Given the description of an element on the screen output the (x, y) to click on. 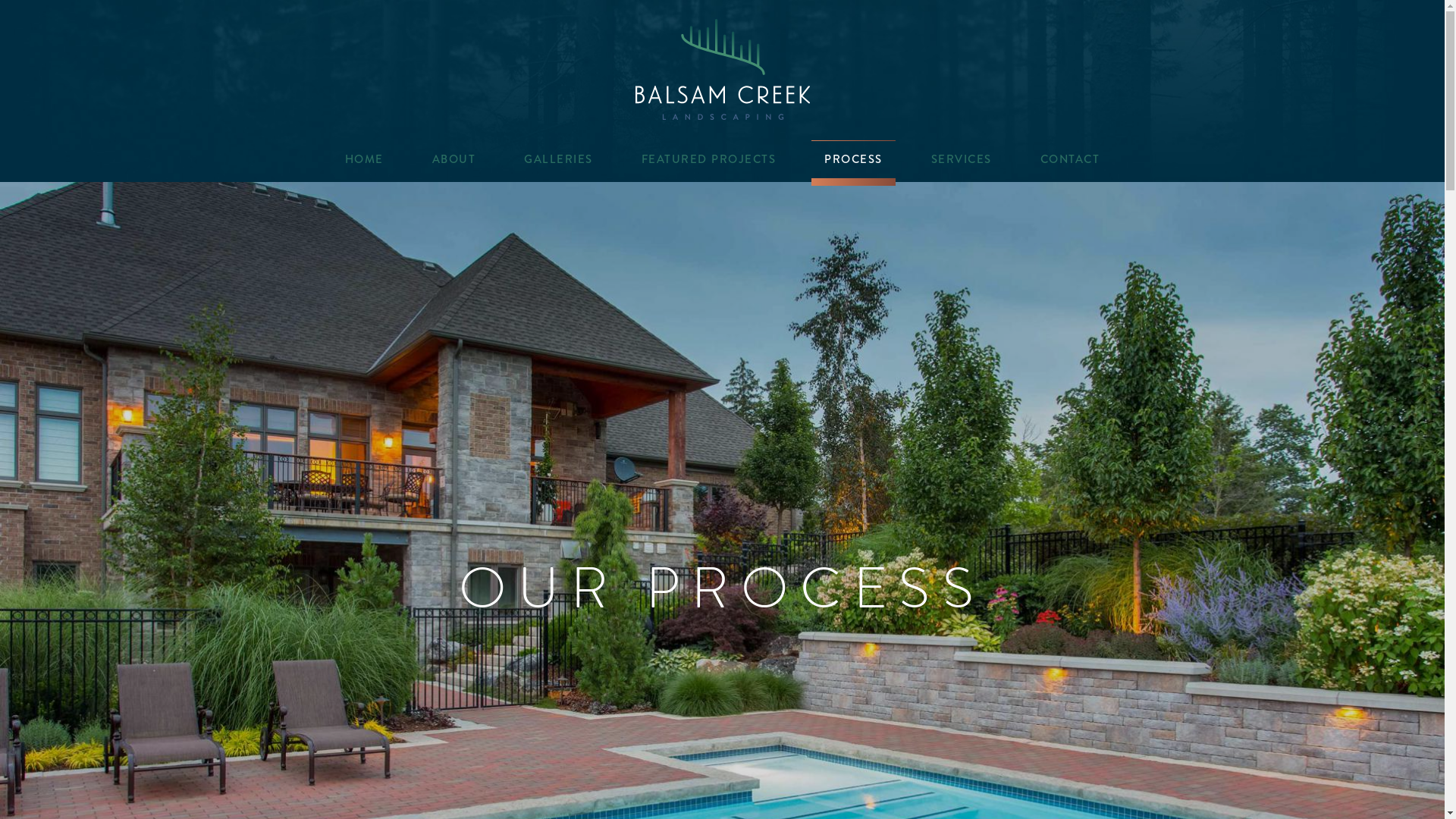
SERVICES Element type: text (961, 159)
ABOUT Element type: text (454, 159)
CONTACT Element type: text (1070, 159)
HOME Element type: text (364, 159)
GALLERIES Element type: text (558, 159)
PROCESS Element type: text (853, 159)
FEATURED PROJECTS Element type: text (708, 159)
